Given the description of an element on the screen output the (x, y) to click on. 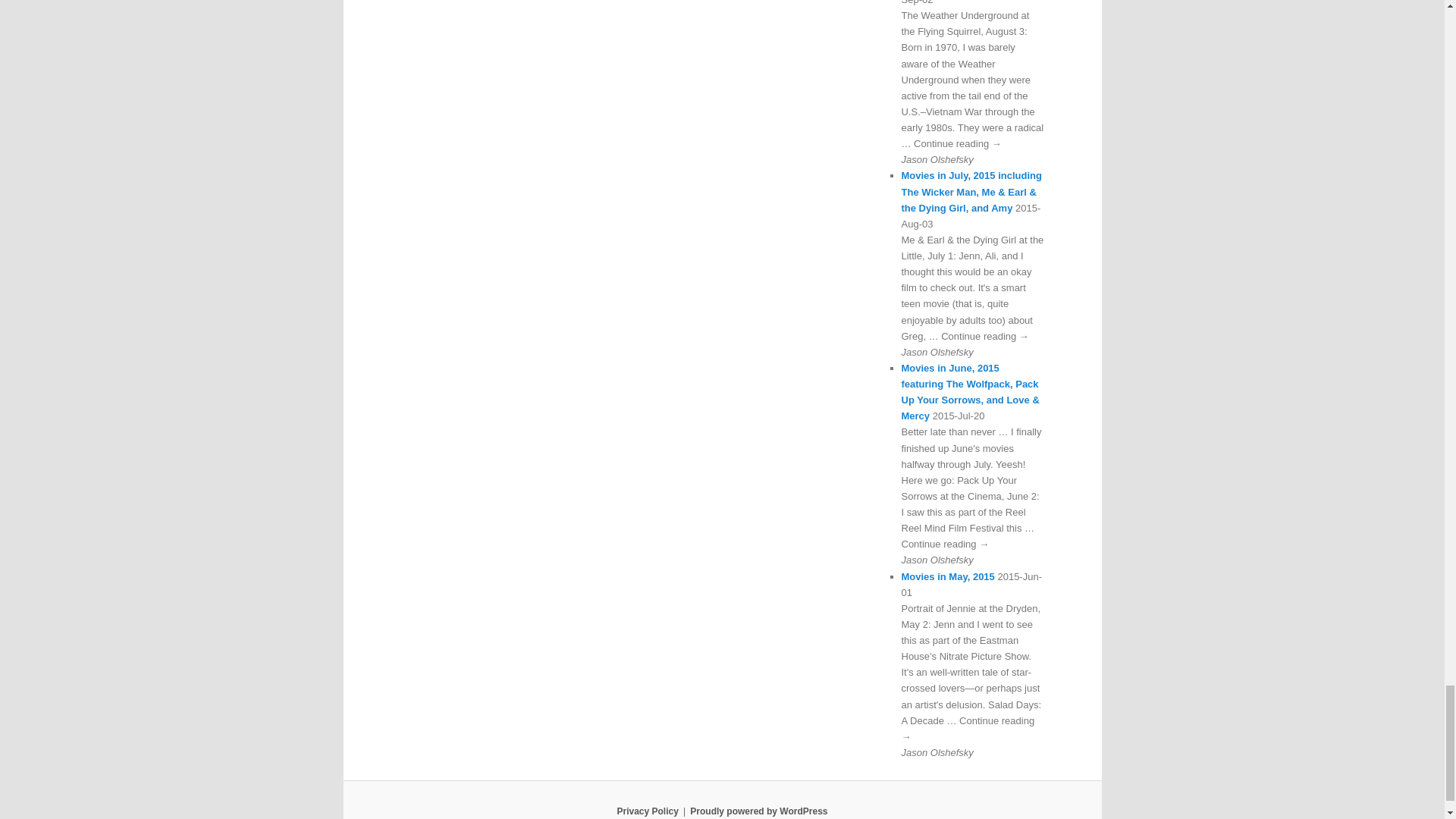
Semantic Personal Publishing Platform (758, 810)
